Given the description of an element on the screen output the (x, y) to click on. 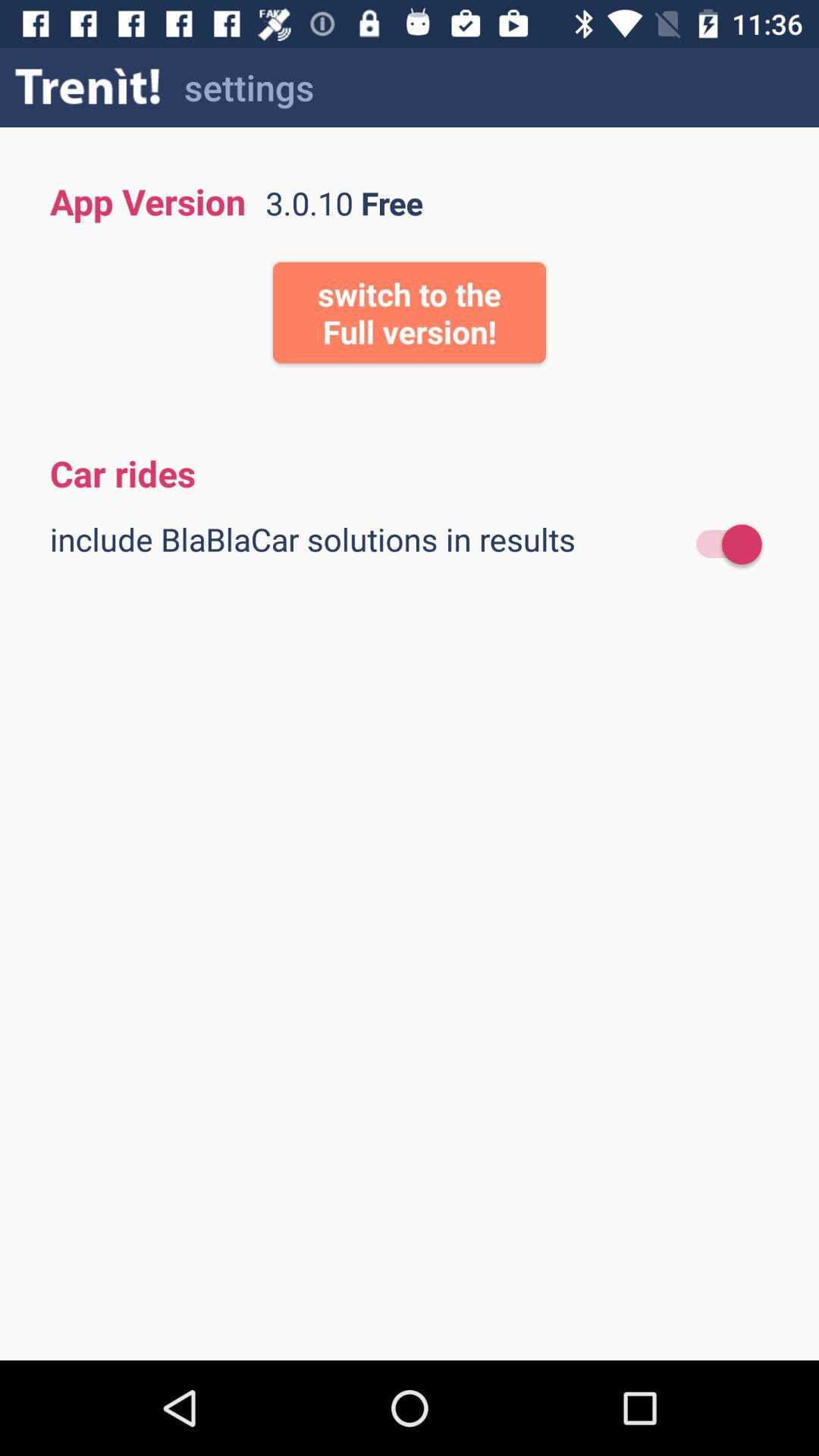
turn on the item next to the settings icon (88, 87)
